Given the description of an element on the screen output the (x, y) to click on. 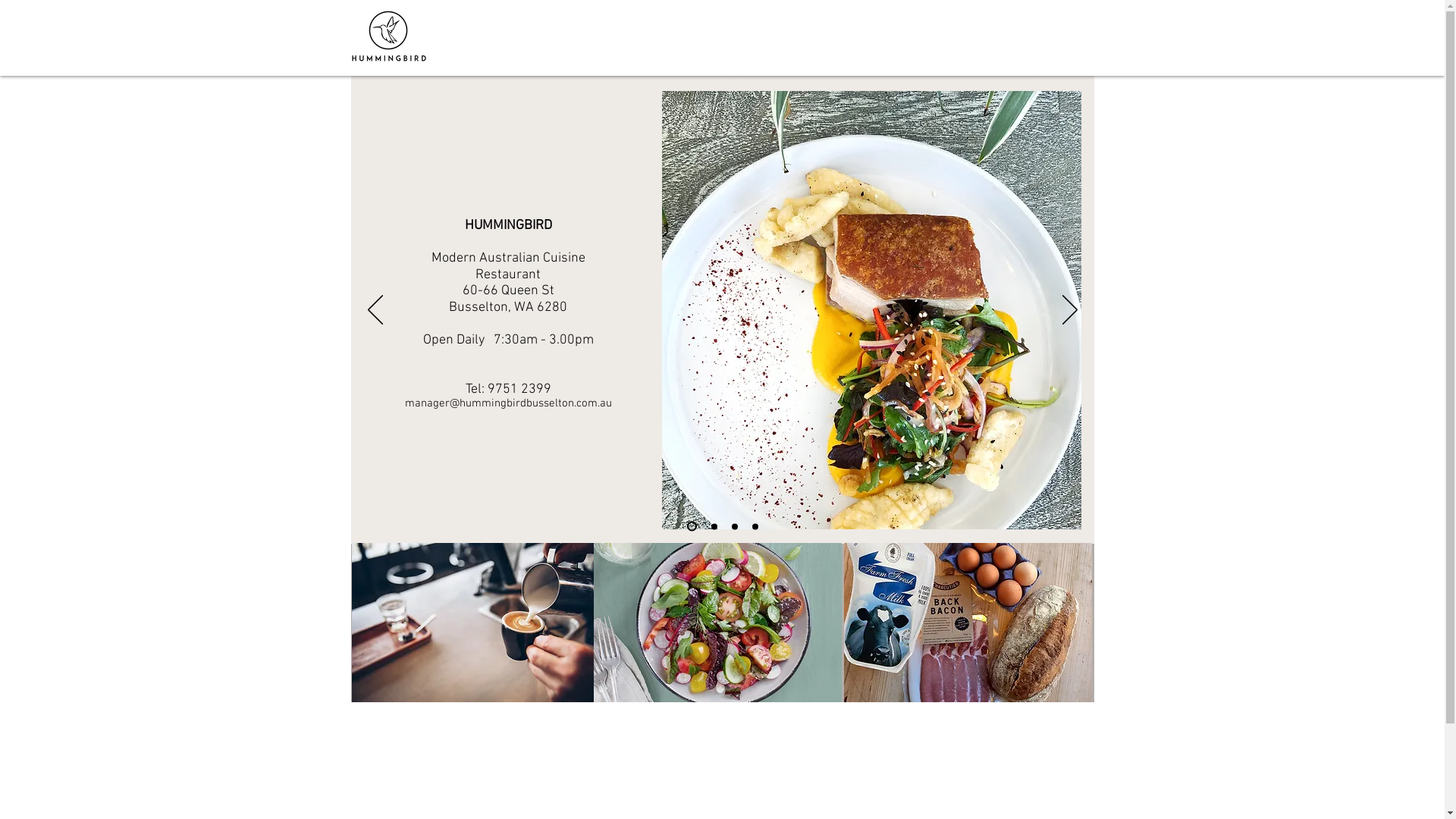
manager@hummingbirdbusselton.com.au Element type: text (507, 403)
9751 2399 Element type: text (518, 389)
